Given the description of an element on the screen output the (x, y) to click on. 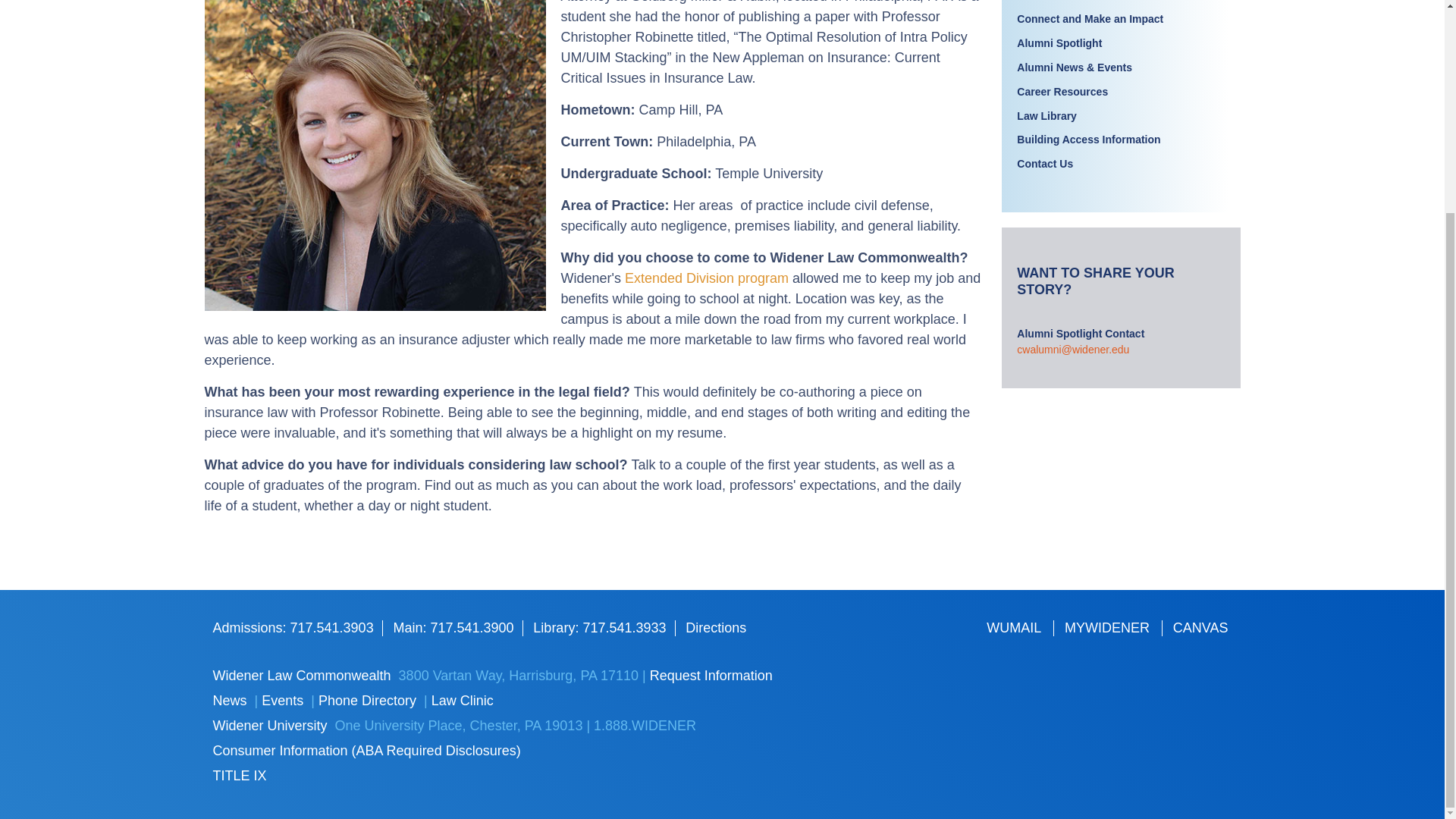
YouTube (1147, 687)
LinkedIn (1098, 687)
Instagram (1000, 720)
Twitter (1048, 687)
Facebook (1000, 687)
